Given the description of an element on the screen output the (x, y) to click on. 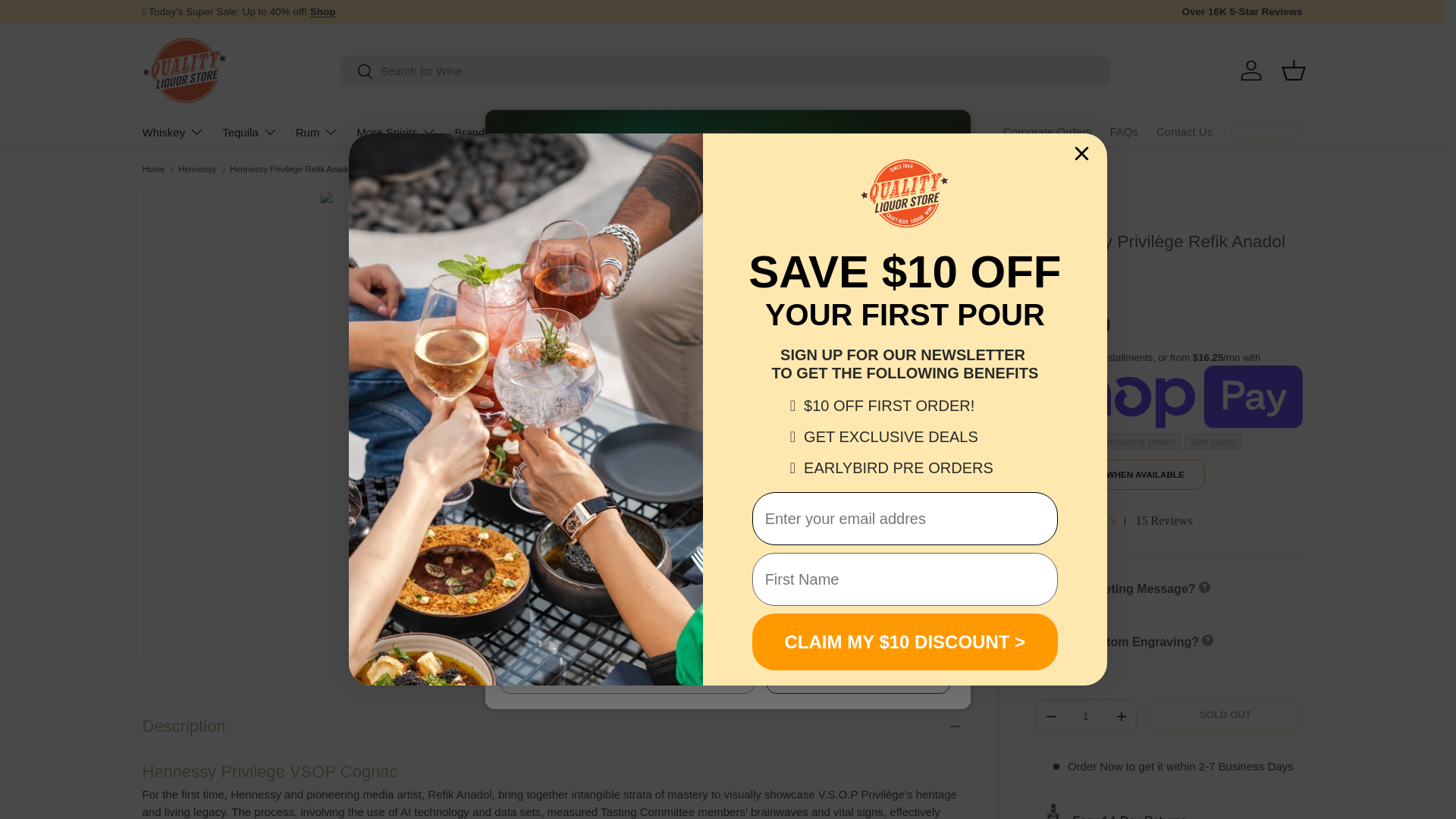
Search (356, 72)
SALE (323, 11)
More Spirits (395, 132)
Over 16K 5-Star Reviews (1240, 11)
1 (1085, 716)
Shop (323, 11)
Quality Liquor Store (1113, 521)
Rum (1251, 70)
Whiskey (317, 132)
Tequila (173, 132)
SKIP TO CONTENT (250, 132)
Basket (68, 21)
